Given the description of an element on the screen output the (x, y) to click on. 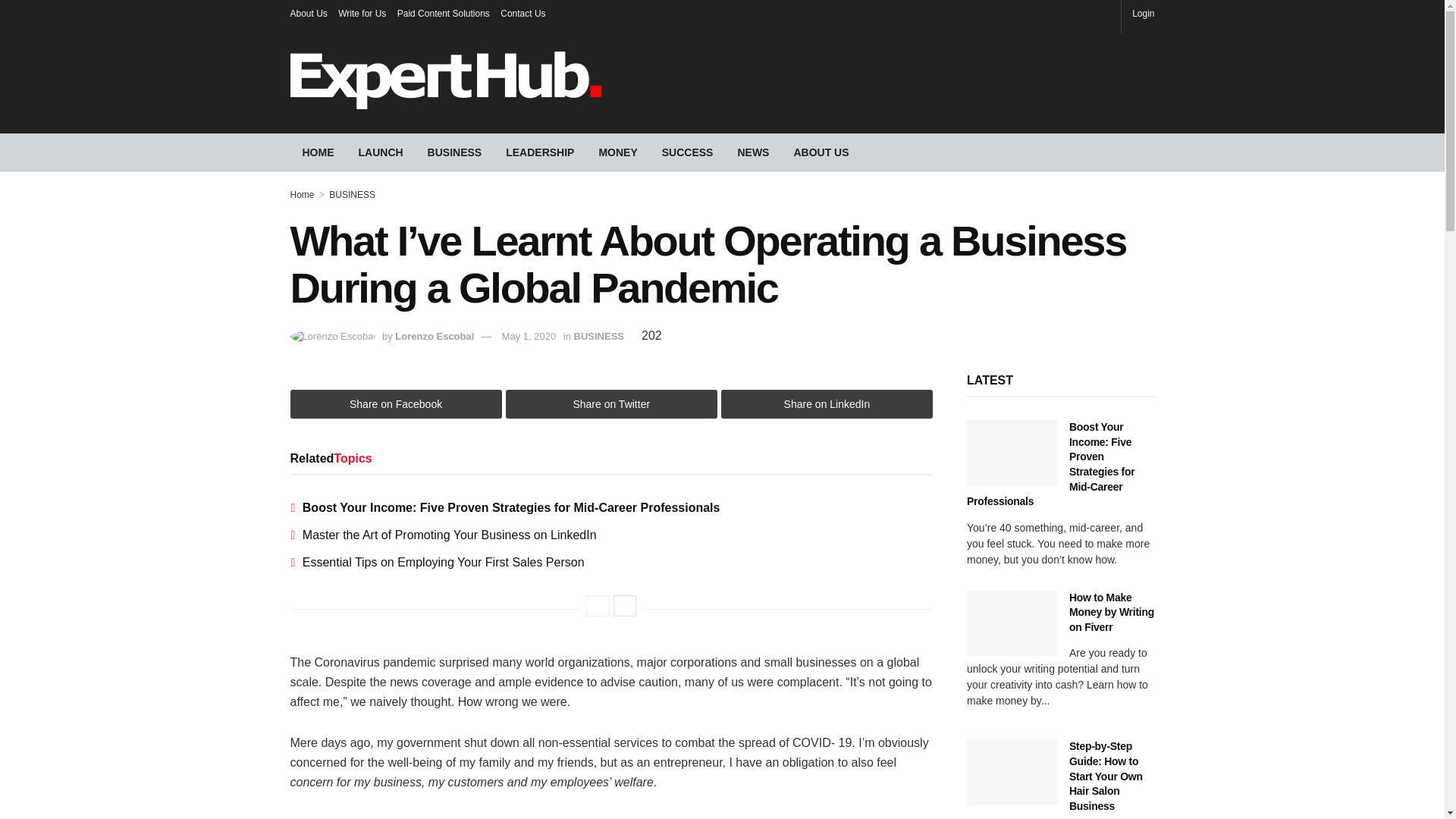
Paid Content Solutions (443, 13)
Write for Us (361, 13)
Previous (597, 605)
BUSINESS (454, 152)
LAUNCH (380, 152)
SUCCESS (687, 152)
MONEY (617, 152)
Next (624, 605)
Contact Us (522, 13)
NEWS (752, 152)
HOME (317, 152)
About Us (307, 13)
ABOUT US (820, 152)
LEADERSHIP (539, 152)
